Given the description of an element on the screen output the (x, y) to click on. 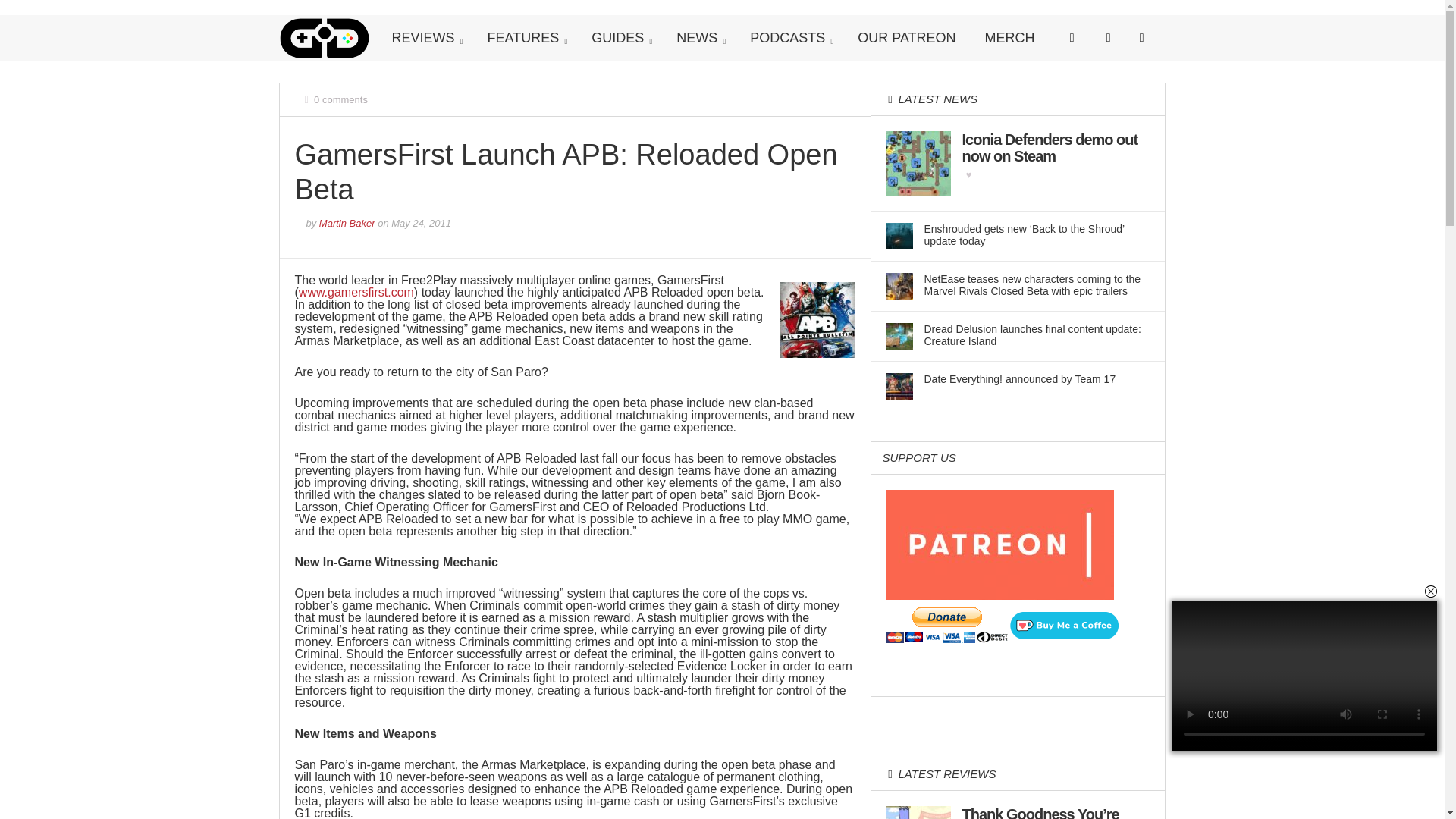
GUIDES (619, 37)
FEATURES (525, 37)
REVIEWS (425, 37)
NEWS (698, 37)
PODCASTS (789, 37)
